Given the description of an element on the screen output the (x, y) to click on. 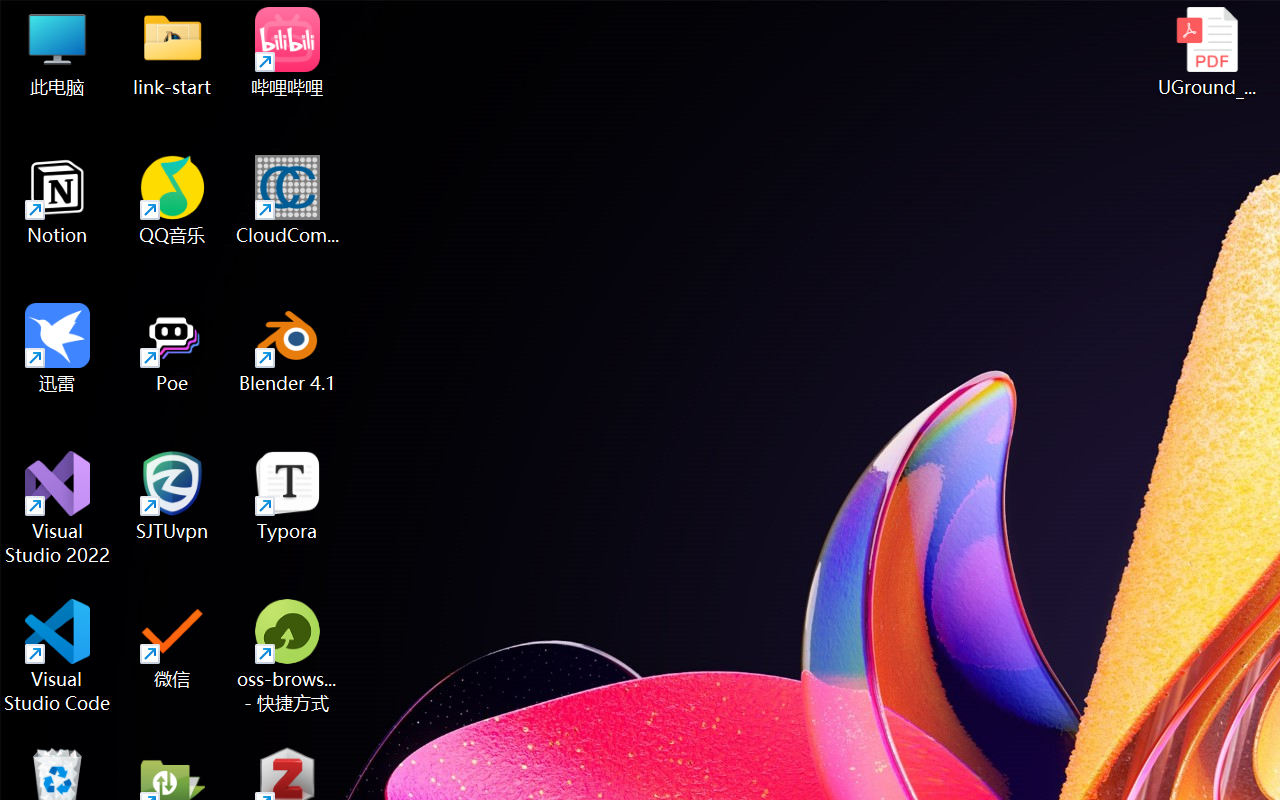
SJTUvpn (172, 496)
CloudCompare (287, 200)
UGround_paper.pdf (1206, 52)
Typora (287, 496)
Visual Studio 2022 (57, 508)
Visual Studio Code (57, 656)
Blender 4.1 (287, 348)
